Given the description of an element on the screen output the (x, y) to click on. 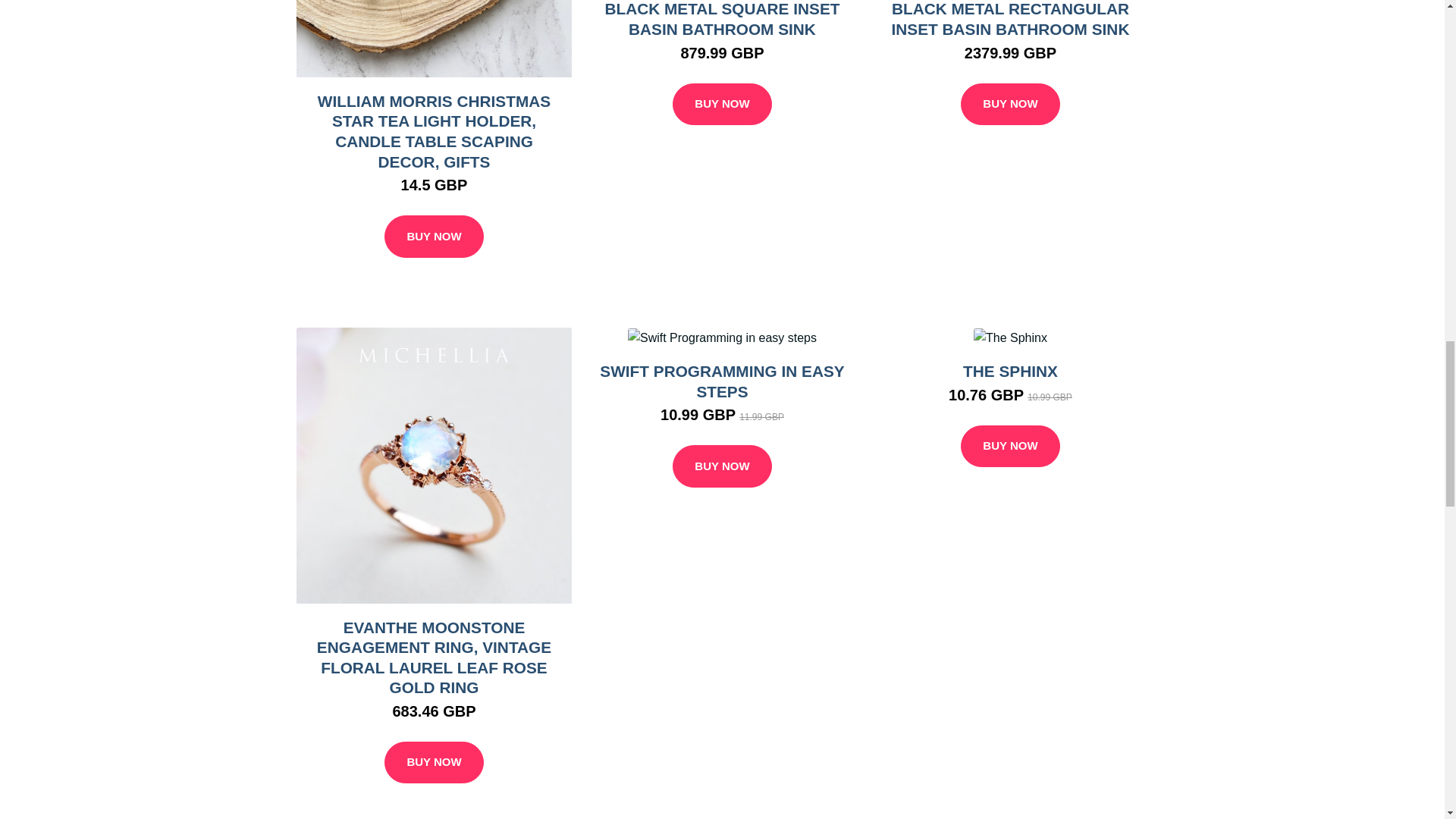
SWIFT PROGRAMMING IN EASY STEPS (721, 381)
BUY NOW (721, 104)
BLACK METAL RECTANGULAR INSET BASIN BATHROOM SINK (1010, 18)
BLACK METAL SQUARE INSET BASIN BATHROOM SINK (722, 18)
BUY NOW (433, 236)
BUY NOW (721, 466)
BUY NOW (433, 762)
THE SPHINX (1010, 371)
BUY NOW (1009, 104)
BUY NOW (1009, 446)
